Given the description of an element on the screen output the (x, y) to click on. 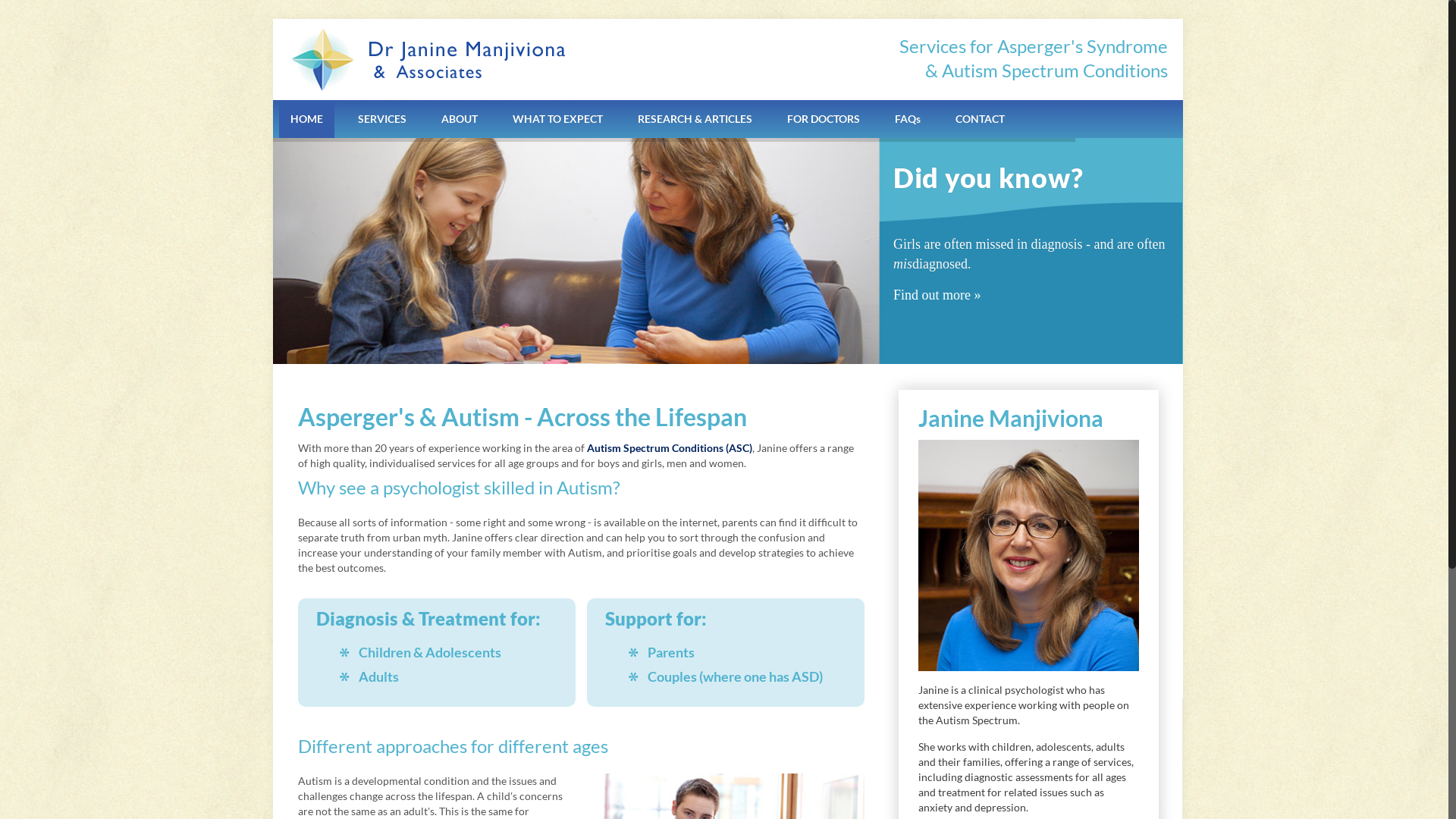
ABOUT Element type: text (459, 119)
FAQs Element type: text (907, 119)
Couples (where one has ASD) Element type: text (734, 676)
WHAT TO EXPECT Element type: text (557, 119)
CONTACT Element type: text (980, 119)
Janine Manjiviona & Associates Element type: hover (424, 59)
Children & Adolescents Element type: text (429, 651)
HOME Element type: text (306, 119)
Parents Element type: text (670, 651)
Autism Spectrum Conditions (ASC) Element type: text (669, 447)
Adults Element type: text (378, 676)
FOR DOCTORS Element type: text (823, 119)
SERVICES Element type: text (381, 119)
RESEARCH & ARTICLES Element type: text (694, 119)
